Given the description of an element on the screen output the (x, y) to click on. 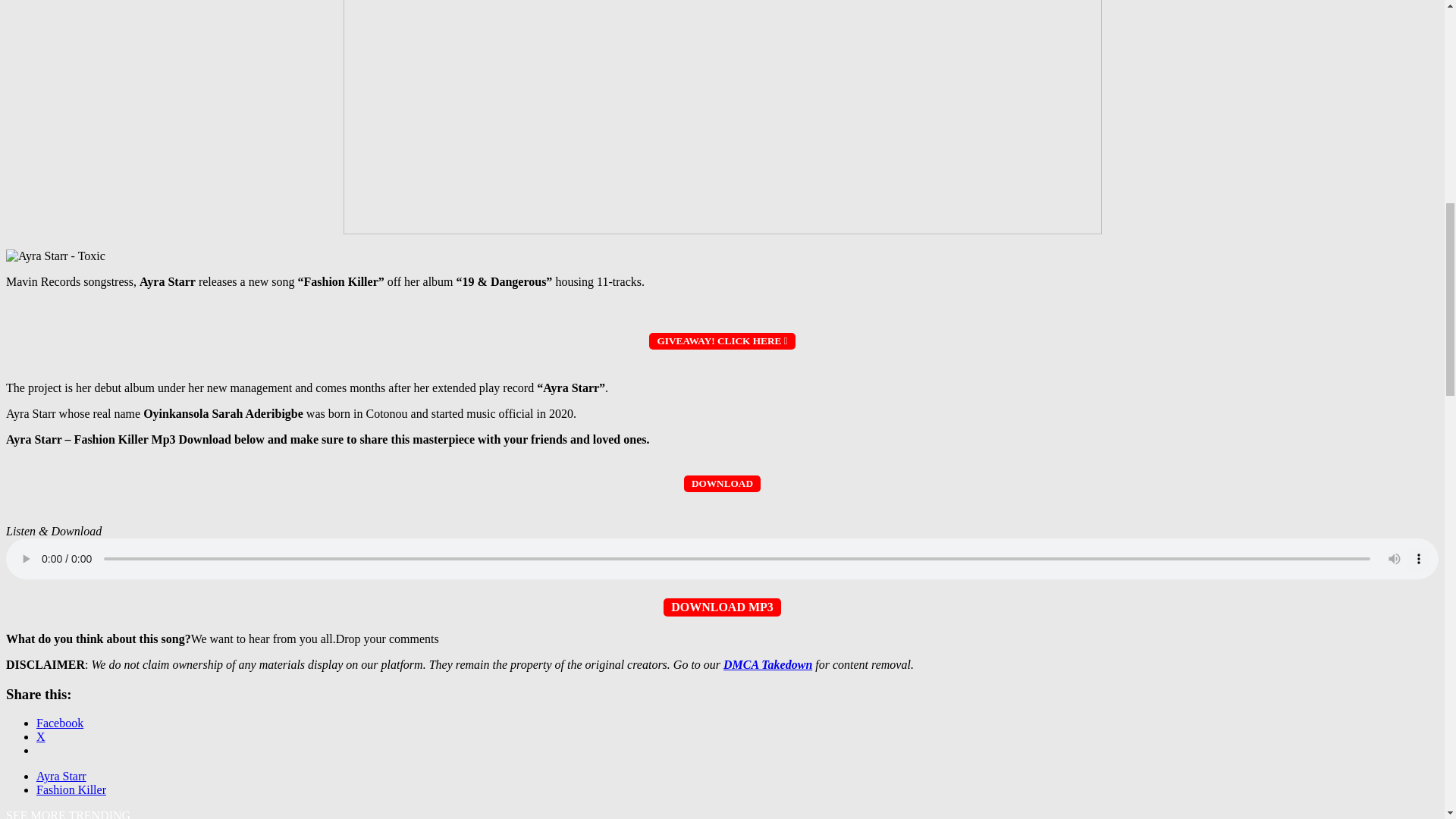
Facebook (59, 722)
Click to share on Facebook (59, 722)
DOWNLOAD MP3 (721, 606)
SEE MORE TRENDING (68, 814)
Fashion Killer (71, 789)
DOWNLOAD (722, 482)
DMCA Takedown (767, 664)
Ayra Starr (60, 775)
